Given the description of an element on the screen output the (x, y) to click on. 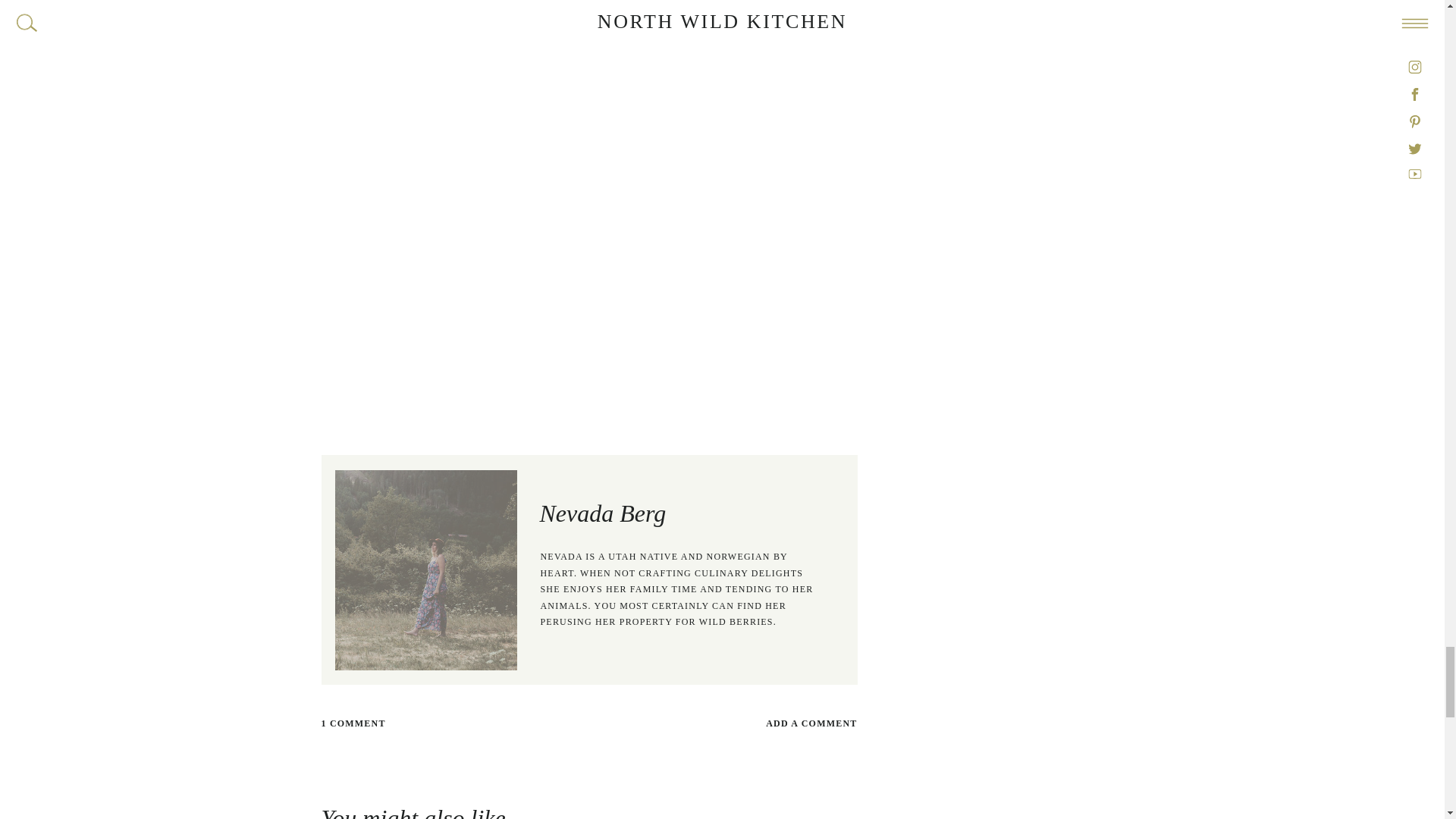
ADD A COMMENT (724, 723)
